Given the description of an element on the screen output the (x, y) to click on. 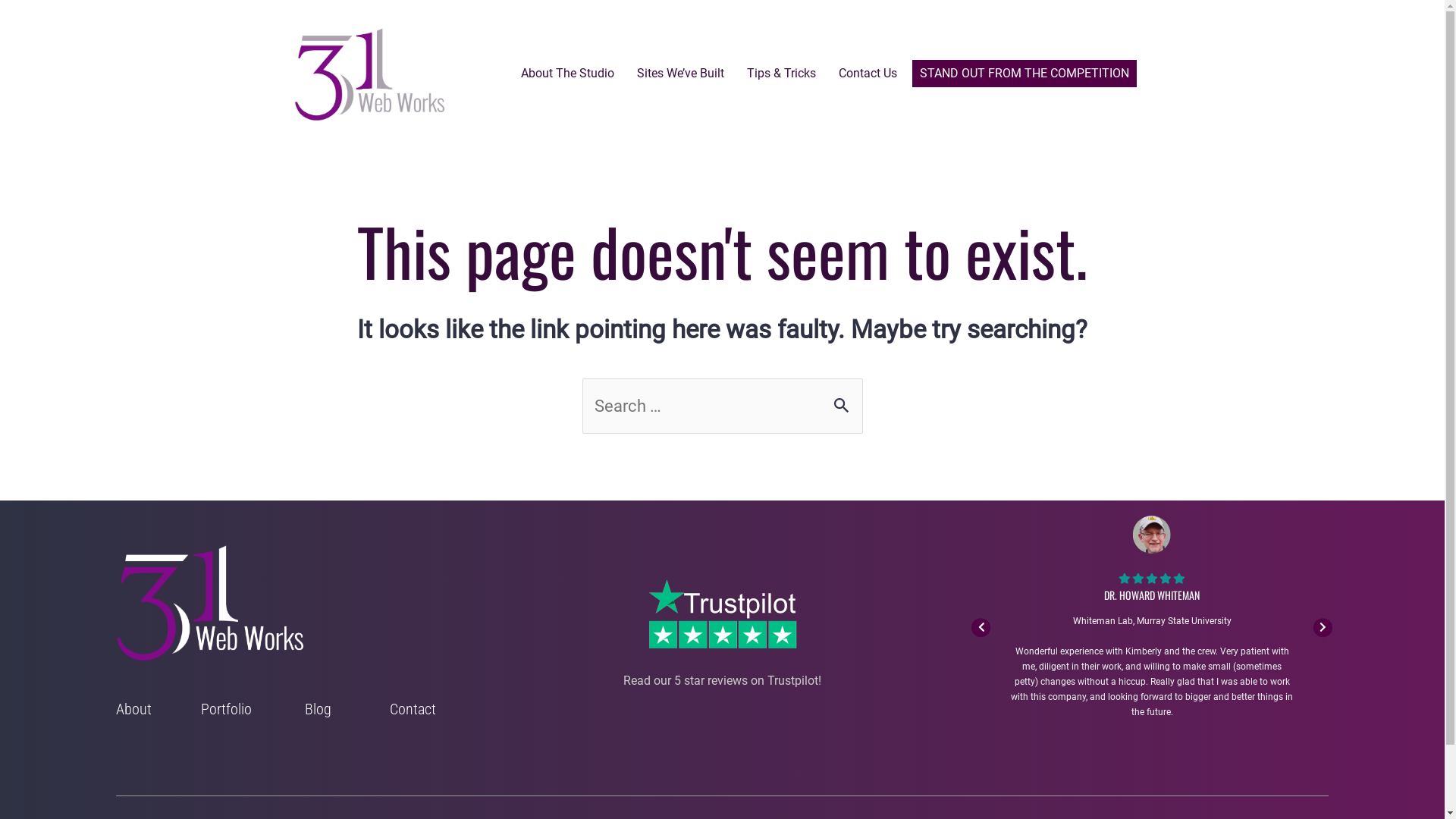
Blog Element type: text (317, 708)
5 out of 5 stars Element type: hover (1178, 578)
Portfolio Element type: text (225, 708)
About Element type: text (133, 708)
Dr. Whiteman Element type: hover (1151, 534)
1 out of 5 stars Element type: hover (1124, 578)
Contact Element type: text (412, 708)
Read our 5 star reviews on Trustpilot! Element type: text (722, 680)
About The Studio Element type: text (566, 73)
STAND OUT FROM THE COMPETITION Element type: text (1023, 73)
31webworkslogo Element type: hover (210, 604)
4 out of 5 stars Element type: hover (1164, 578)
Search Element type: text (845, 395)
3 out of 5 stars Element type: hover (1150, 578)
Tips & Tricks Element type: text (780, 73)
2 out of 5 stars Element type: hover (1137, 578)
31webworkslogo-550 Element type: hover (369, 74)
Contact Us Element type: text (867, 73)
Tustpilot Reviews Web Agency Element type: hover (721, 614)
